Given the description of an element on the screen output the (x, y) to click on. 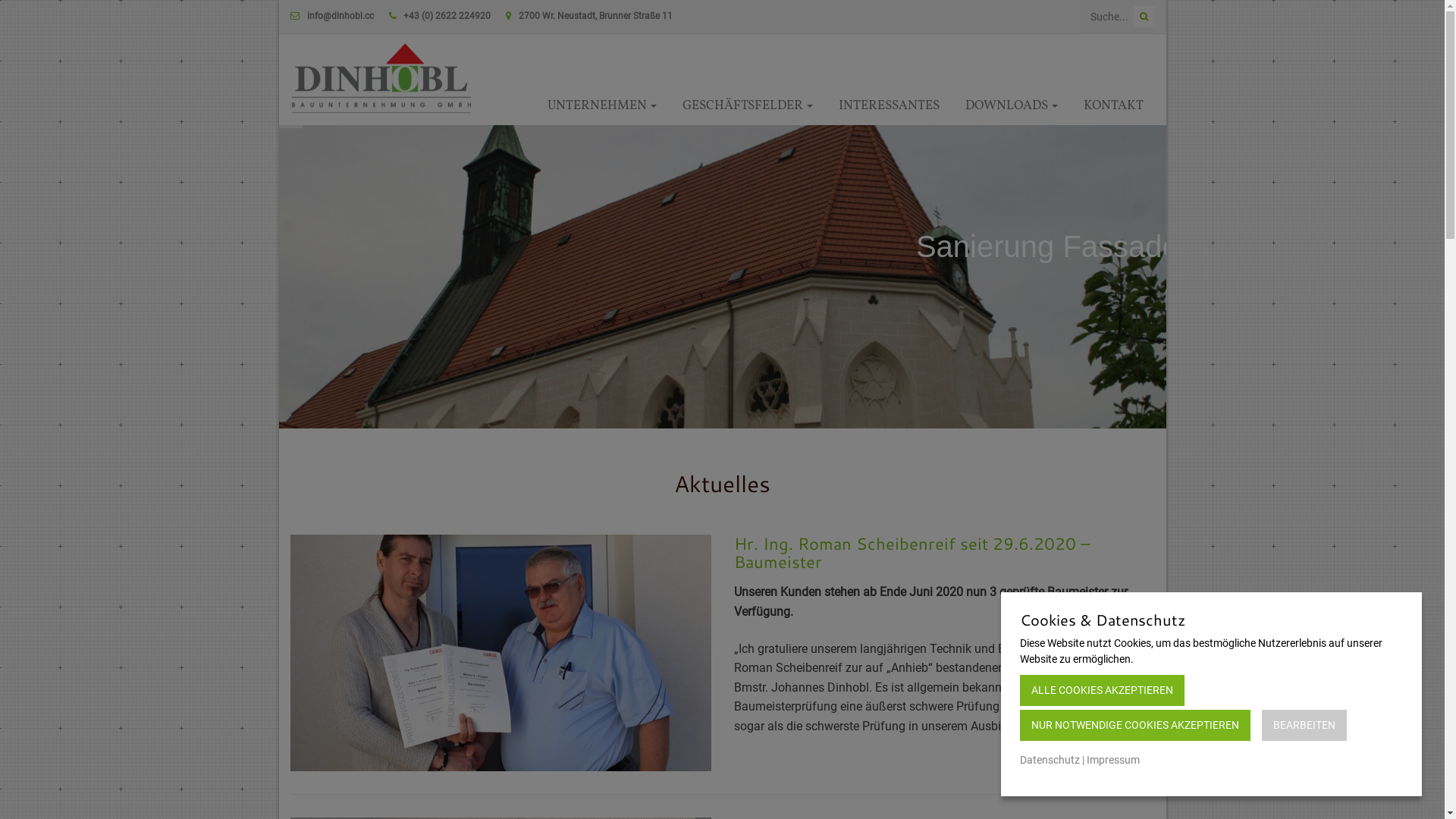
KONTAKT Element type: text (1113, 106)
ALLE COOKIES AKZEPTIEREN Element type: text (1101, 690)
BEARBEITEN Element type: text (1303, 724)
DOWNLOADS Element type: text (1011, 106)
UNTERNEHMEN Element type: text (601, 106)
Impressum Element type: text (1112, 760)
Datenschutz Element type: text (1049, 760)
INTERESSANTES Element type: text (888, 106)
+43 (0) 2622 224920 Element type: text (446, 15)
info@dinhobl.cc Element type: text (339, 15)
NUR NOTWENDIGE COOKIES AKZEPTIEREN Element type: text (1134, 724)
